Given the description of an element on the screen output the (x, y) to click on. 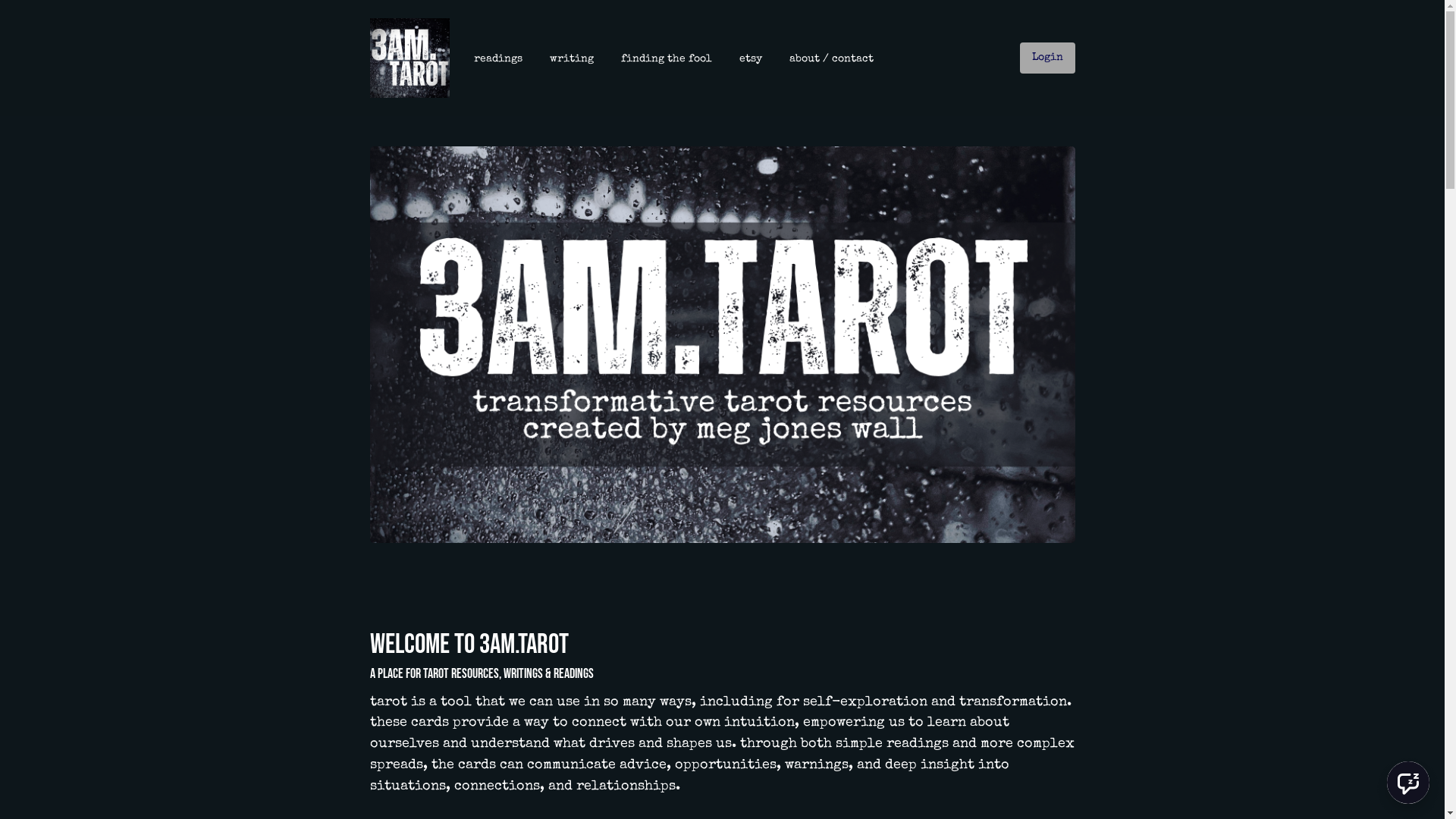
writing Element type: text (571, 58)
finding the fool Element type: text (665, 58)
about / contact Element type: text (830, 58)
Login Element type: text (1046, 57)
etsy Element type: text (749, 58)
readings Element type: text (497, 58)
